Given the description of an element on the screen output the (x, y) to click on. 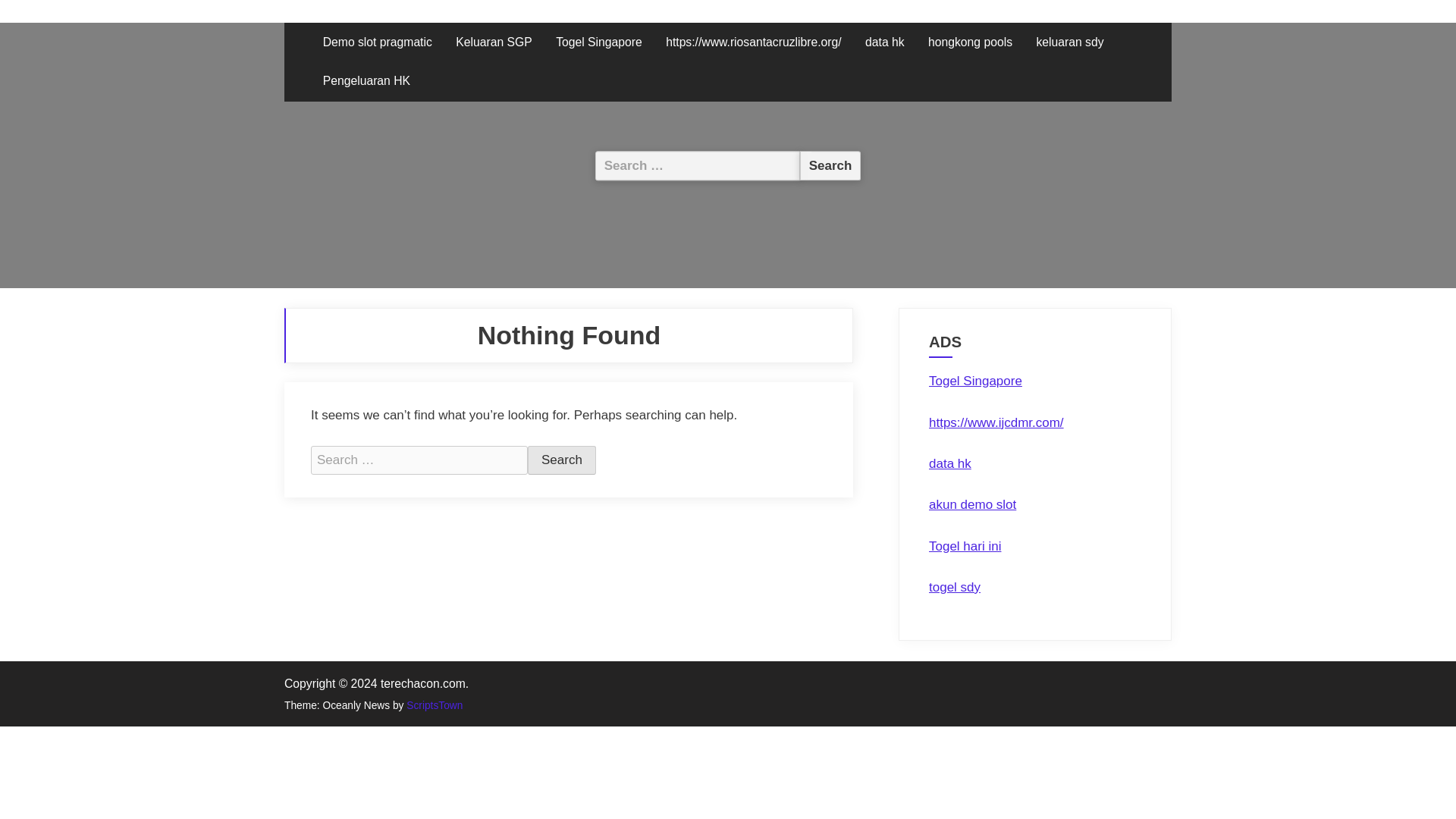
Pengeluaran HK (366, 81)
Togel Singapore (598, 42)
hongkong pools (970, 42)
Demo slot pragmatic (377, 42)
Search (561, 460)
Togel Singapore (975, 380)
Search (830, 165)
Keluaran SGP (493, 42)
akun demo slot (972, 504)
togel sdy (953, 586)
Search (561, 460)
ScriptsTown (434, 705)
Search (830, 165)
keluaran sdy (1069, 42)
Search (830, 165)
